Given the description of an element on the screen output the (x, y) to click on. 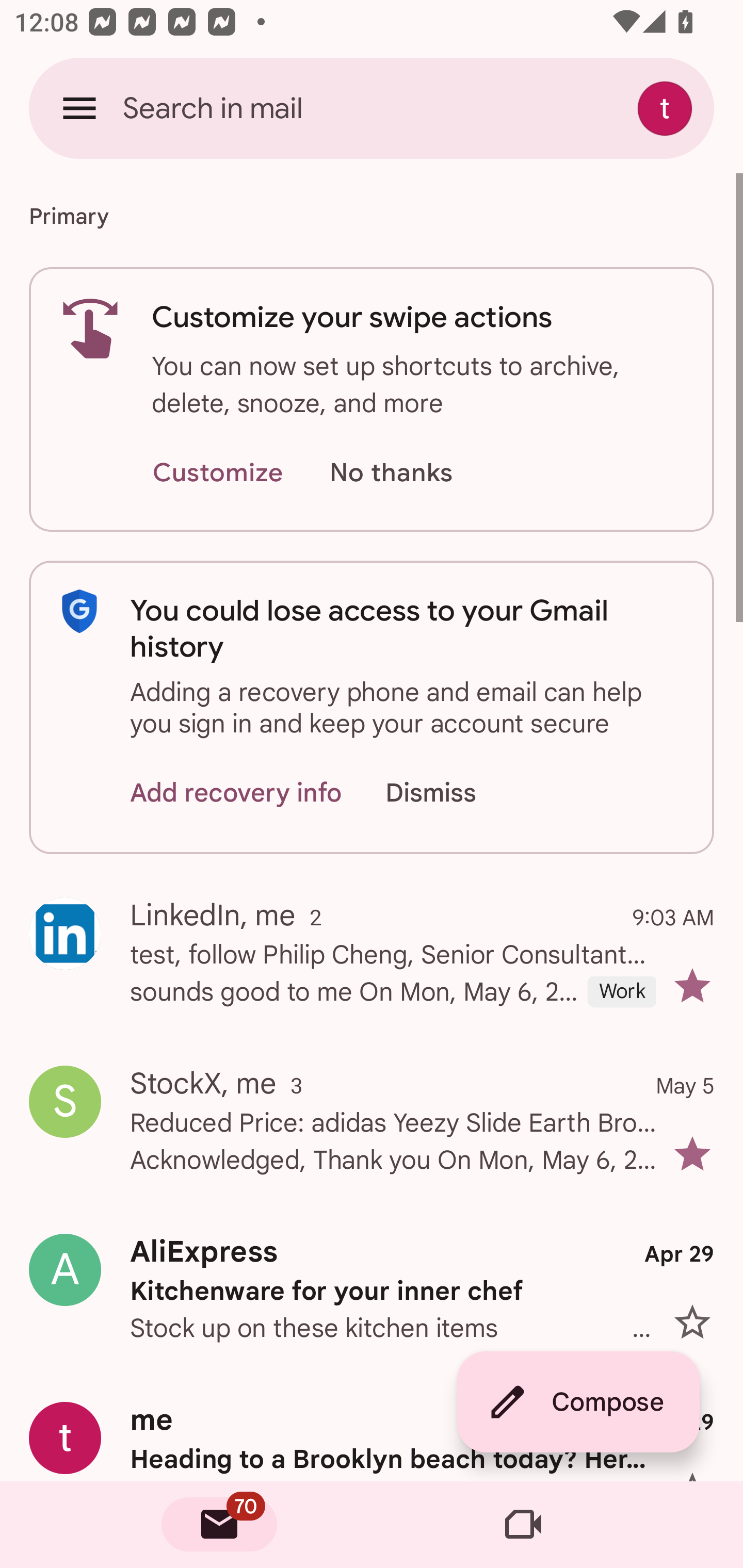
Open navigation drawer (79, 108)
Customize (217, 473)
No thanks (390, 473)
Add recovery info (235, 792)
Dismiss (449, 792)
Compose (577, 1401)
Meet (523, 1524)
